Given the description of an element on the screen output the (x, y) to click on. 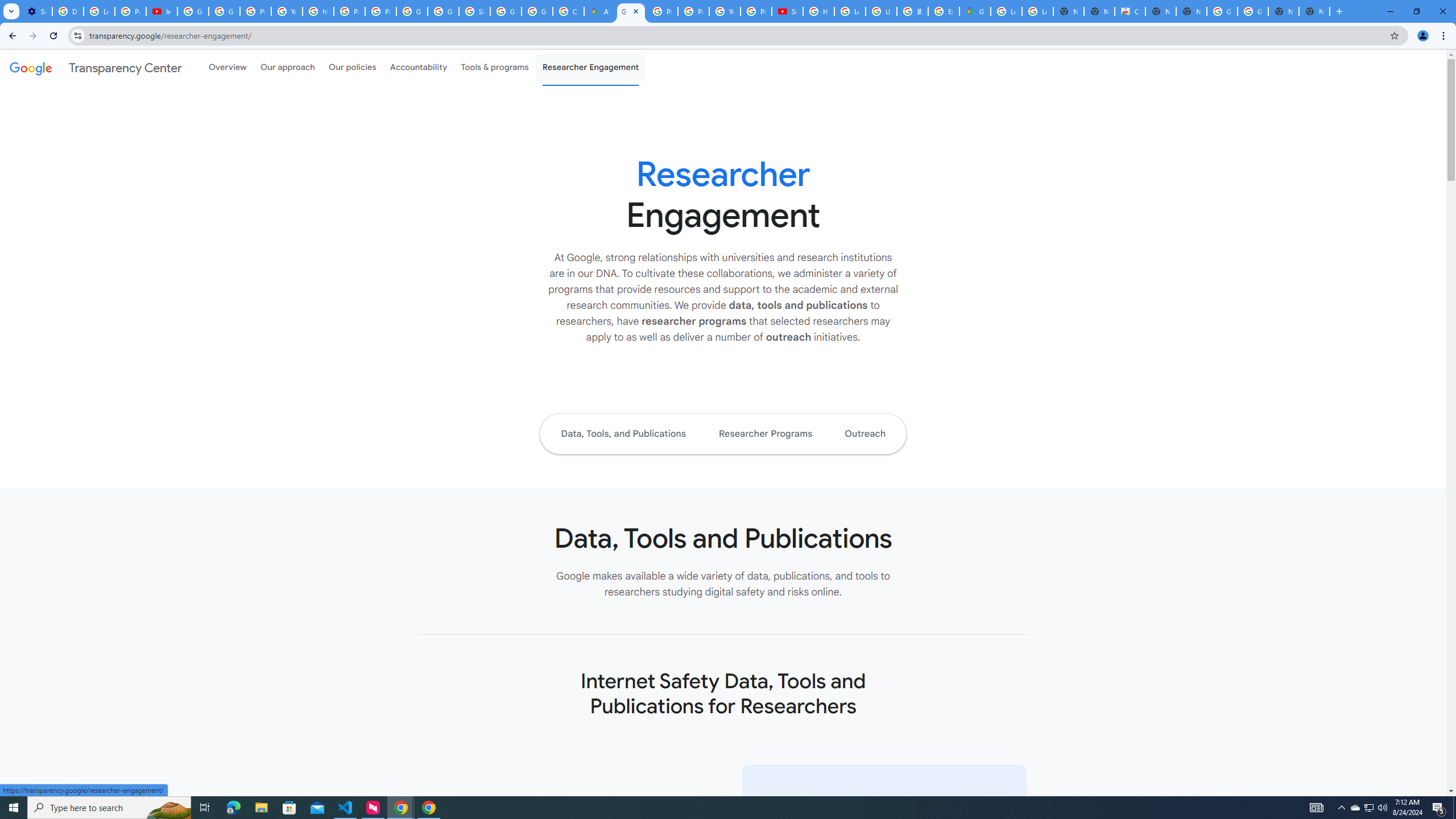
Data, Tools, and Publications (622, 433)
Privacy Help Center - Policies Help (349, 11)
New Tab (1314, 11)
